Given the description of an element on the screen output the (x, y) to click on. 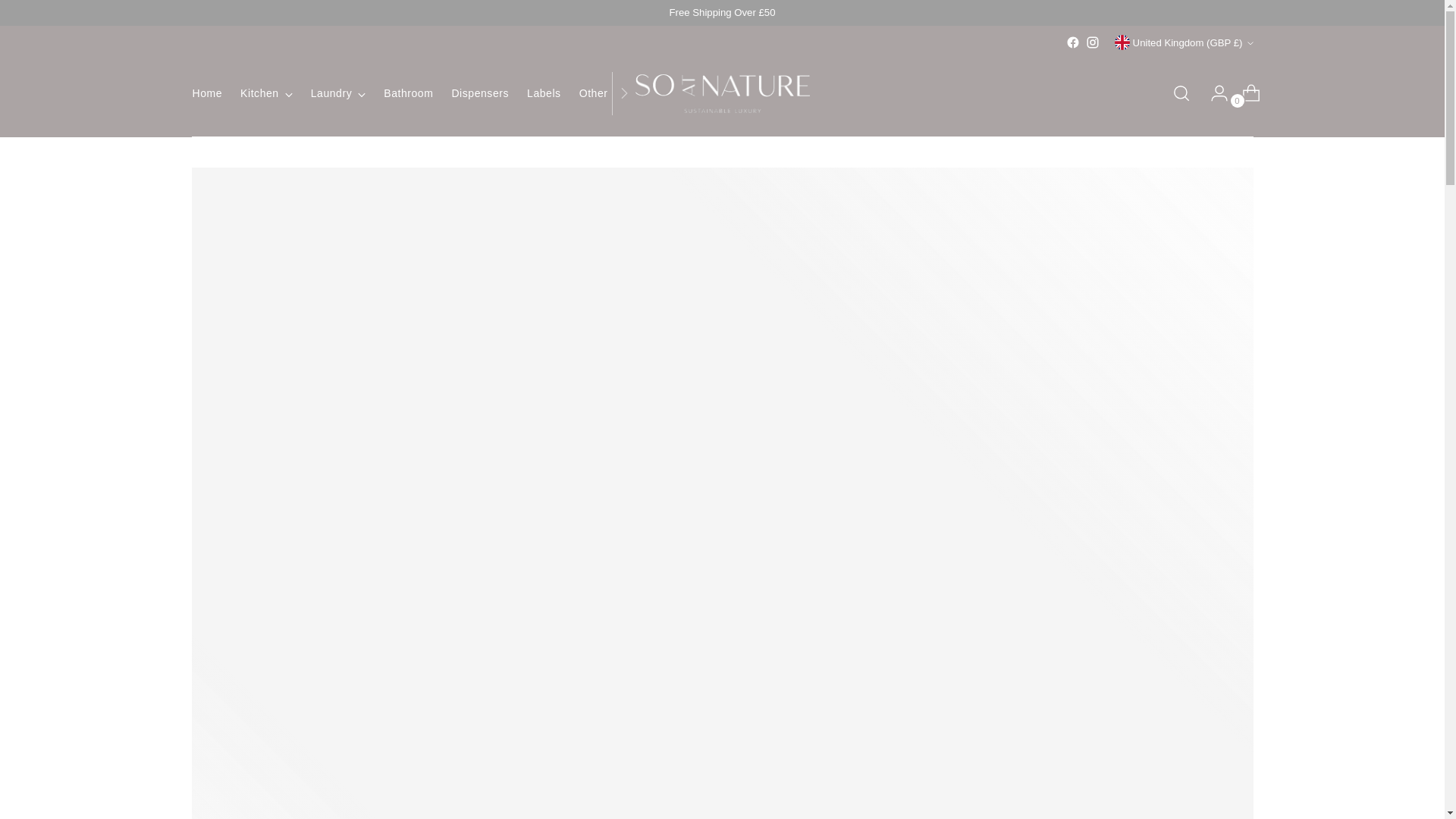
Home (207, 92)
Contact (785, 92)
Kitchen (266, 92)
Other (600, 92)
0 (1245, 92)
Bathroom (408, 92)
Dispensers (479, 92)
So At Nature on Instagram (1092, 42)
Inspirations (669, 92)
Laundry (338, 92)
So At Nature on Facebook (1072, 42)
Labels (543, 92)
